Given the description of an element on the screen output the (x, y) to click on. 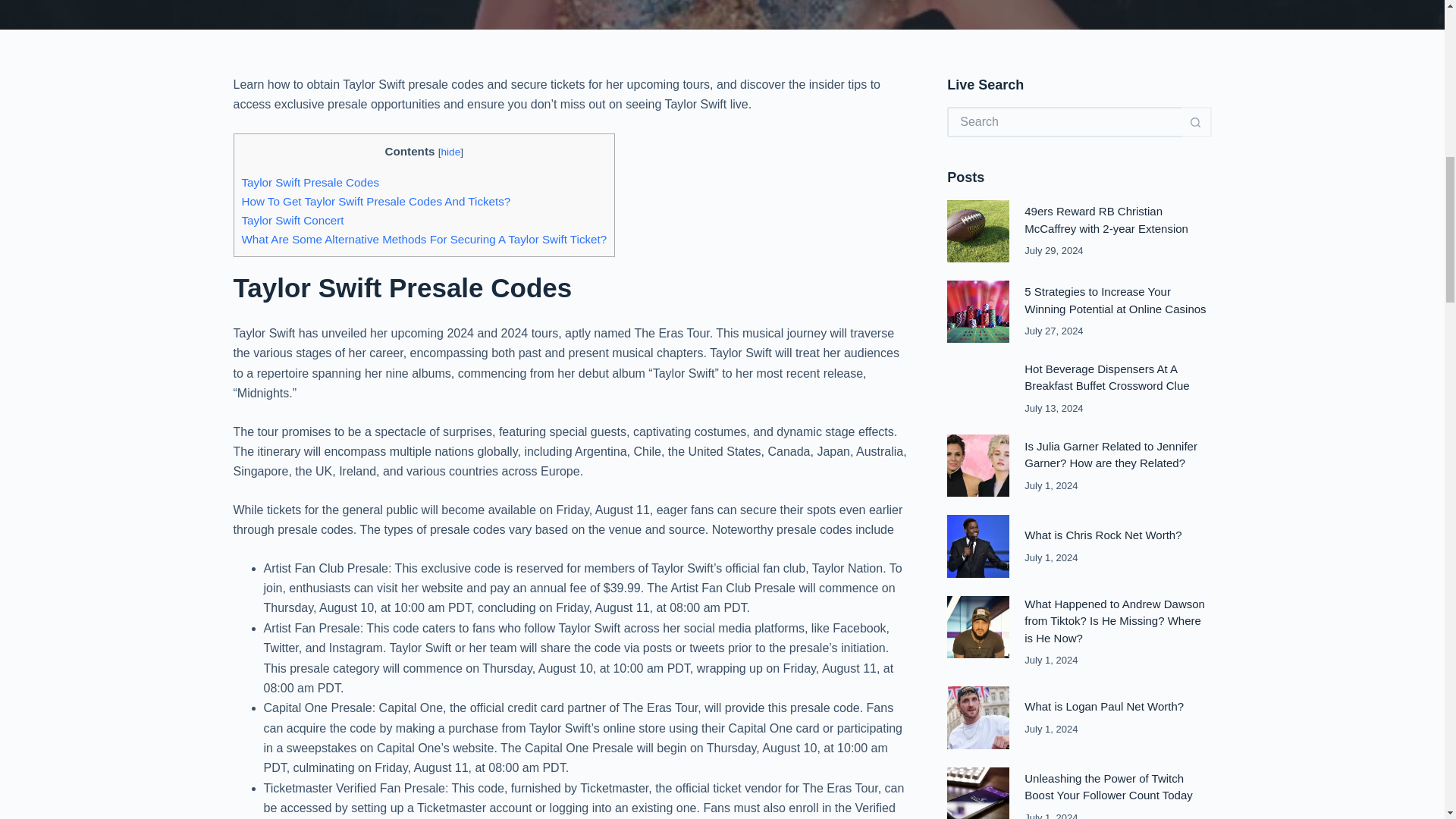
hide (450, 152)
How To Get Taylor Swift Presale Codes And Tickets? (376, 201)
Taylor Swift Concert (292, 219)
49ers Reward RB Christian McCaffrey with 2-year Extension (1106, 219)
Taylor Swift Presale Codes (309, 182)
Search for... (1063, 122)
